Given the description of an element on the screen output the (x, y) to click on. 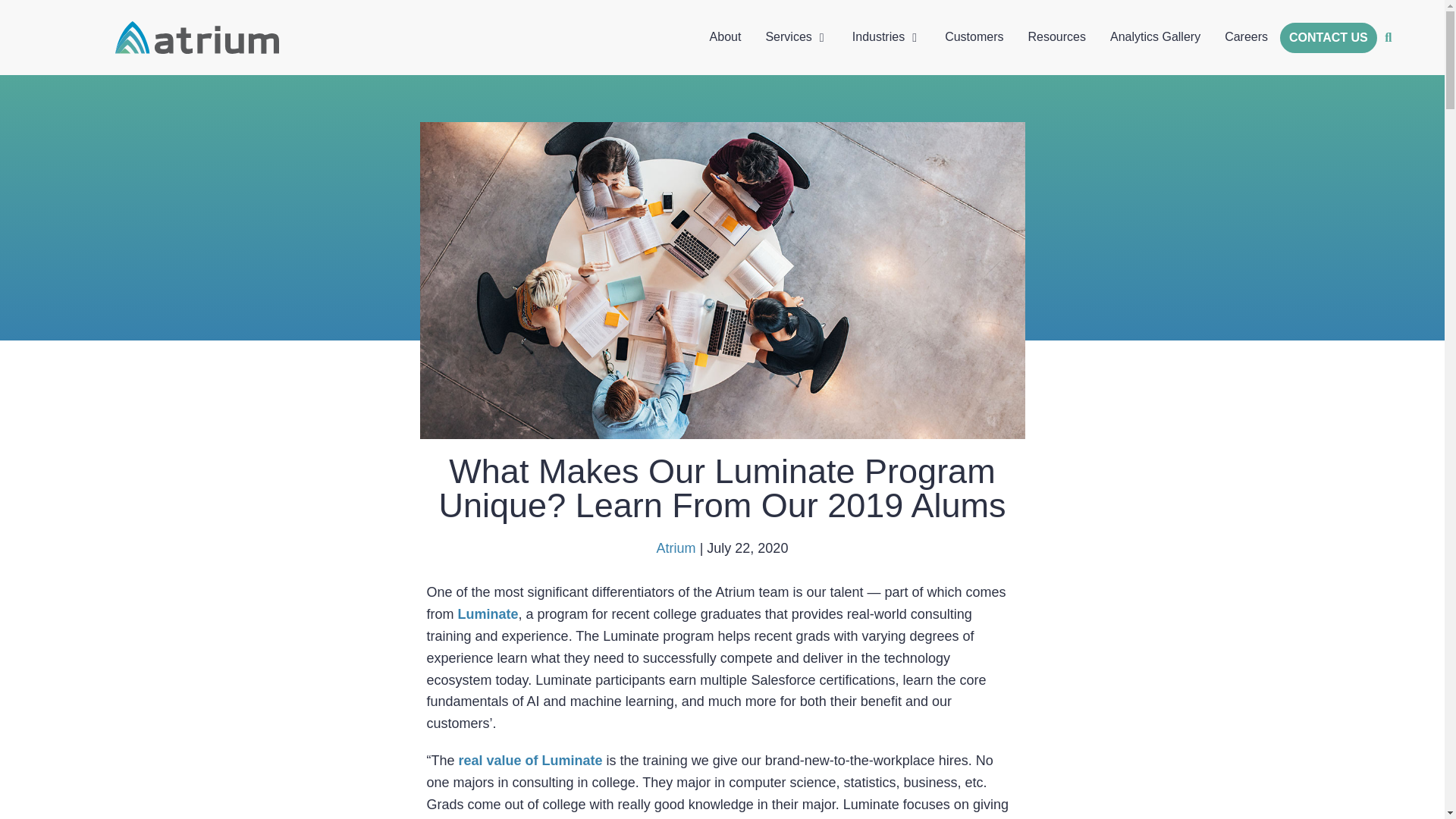
Atrium (675, 548)
About (725, 37)
Services (787, 37)
